Given the description of an element on the screen output the (x, y) to click on. 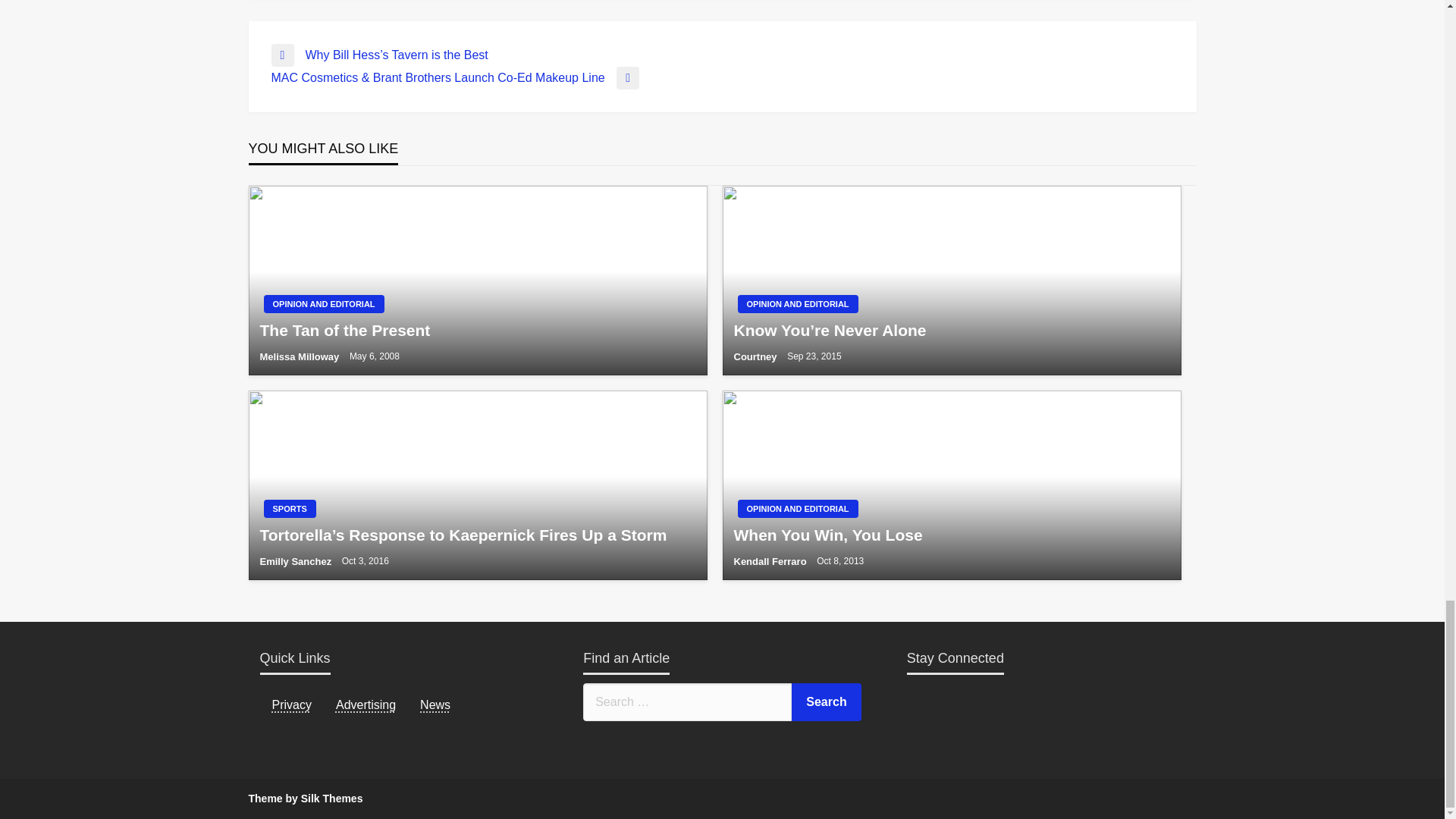
Search (826, 702)
Search (826, 702)
